Given the description of an element on the screen output the (x, y) to click on. 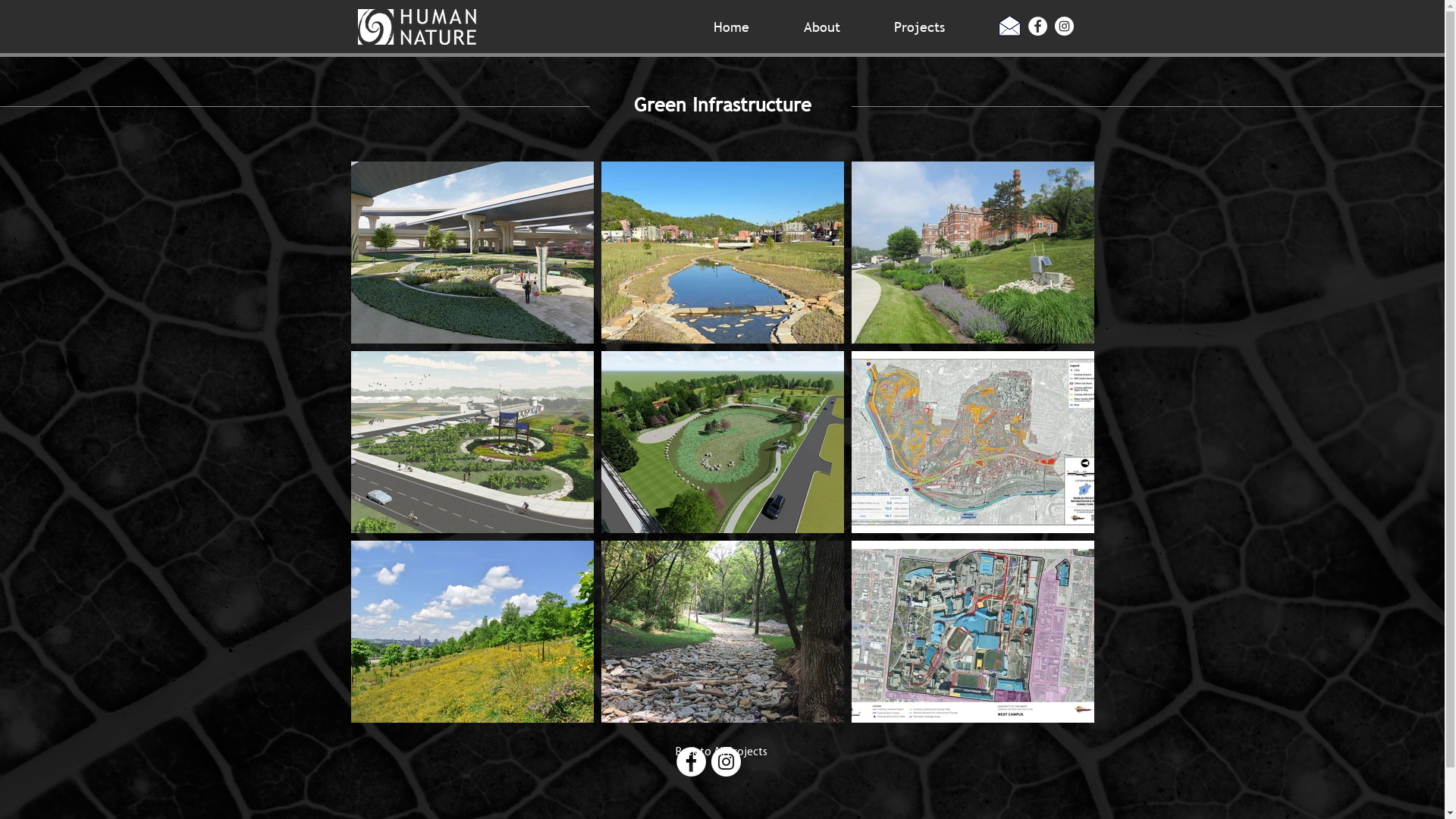
Home Element type: text (747, 24)
Projects Element type: text (934, 24)
Back to All Projects Element type: text (721, 752)
About Element type: text (836, 24)
